Given the description of an element on the screen output the (x, y) to click on. 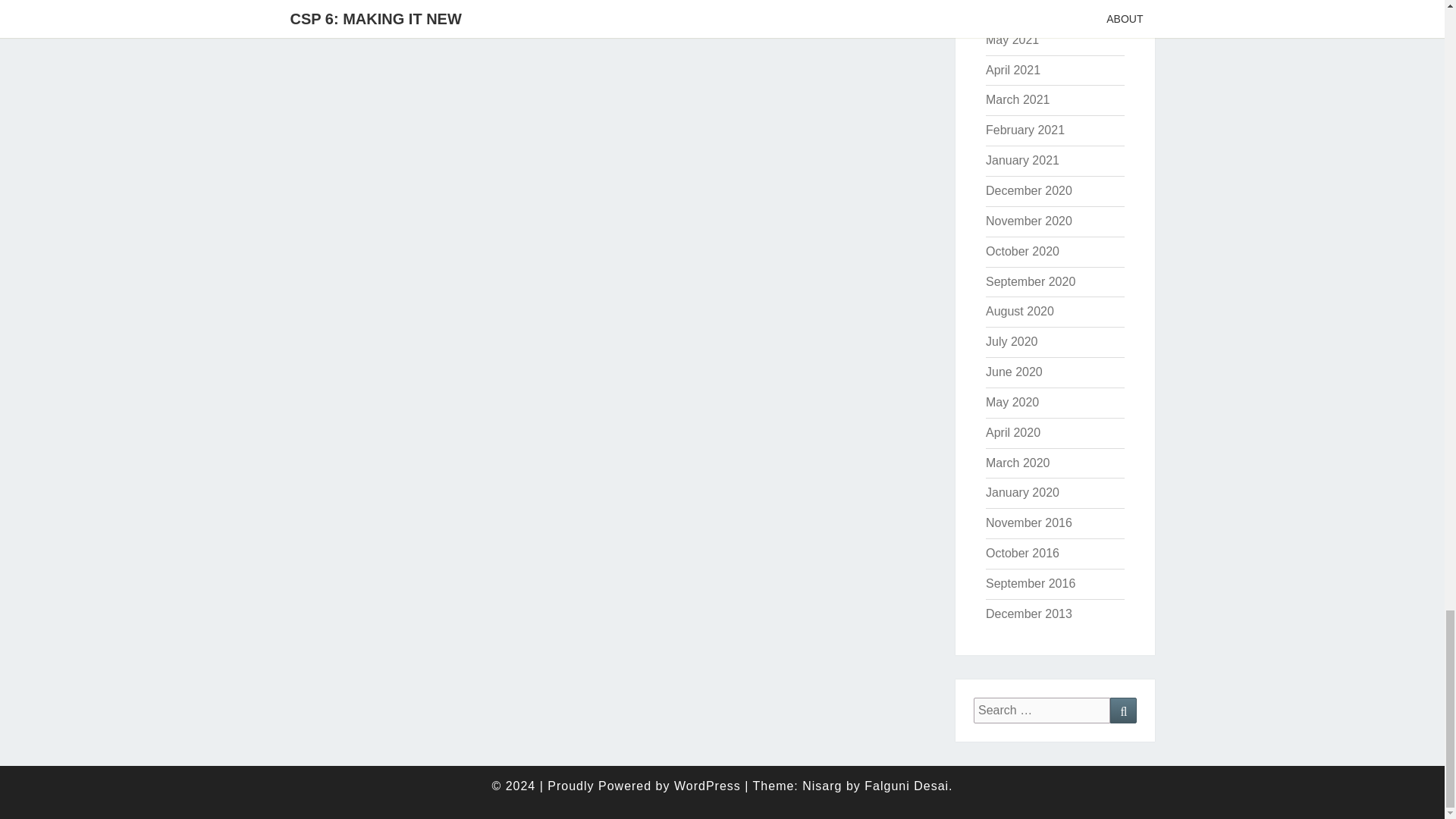
Search for: (1041, 710)
